Given the description of an element on the screen output the (x, y) to click on. 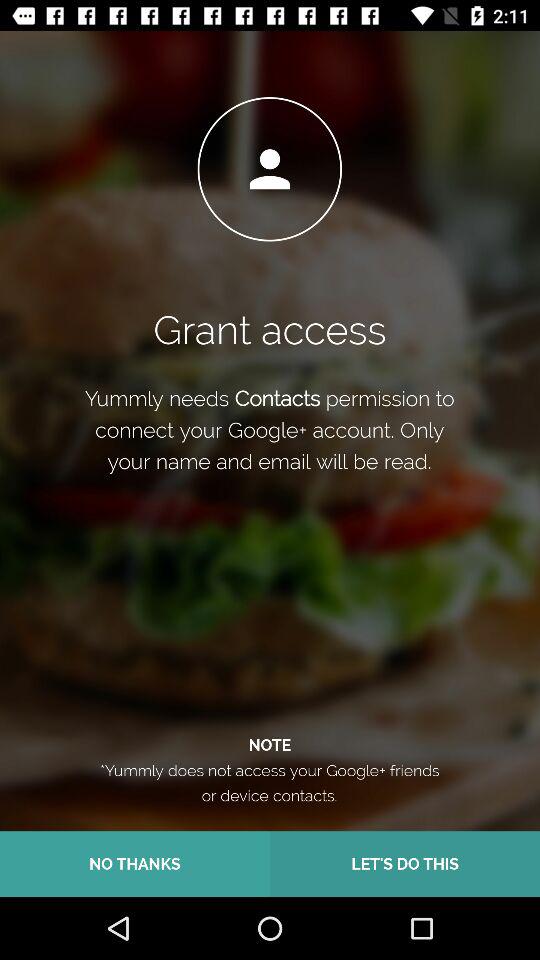
turn off the icon to the right of no thanks (405, 863)
